Given the description of an element on the screen output the (x, y) to click on. 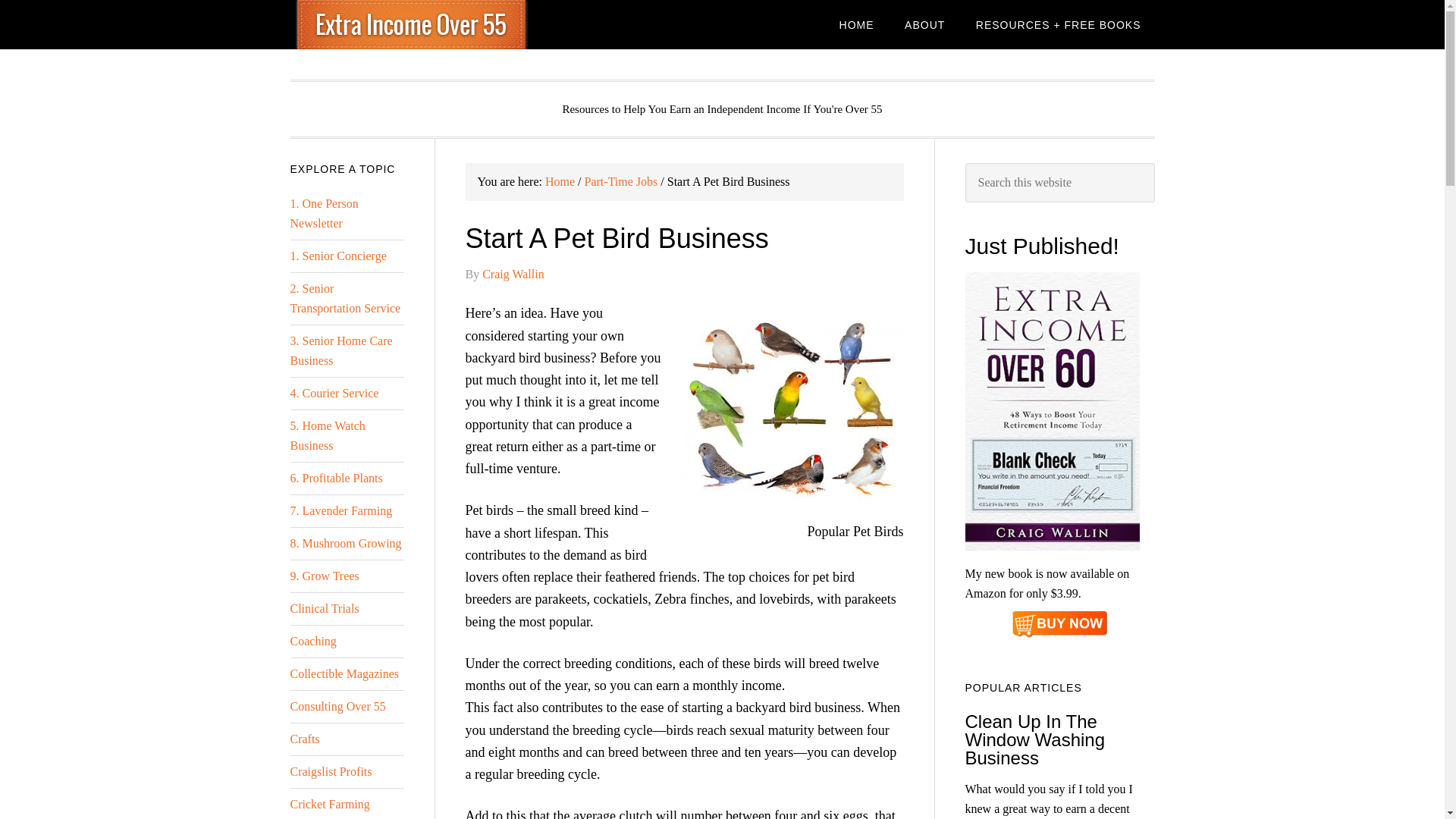
Clean Up In The Window Washing Business (1034, 739)
Part-Time Jobs (621, 181)
HOME (856, 24)
ABOUT (924, 24)
Home (559, 181)
Craig Wallin (512, 273)
EXTRA INCOME OVER 55 (410, 24)
